Given the description of an element on the screen output the (x, y) to click on. 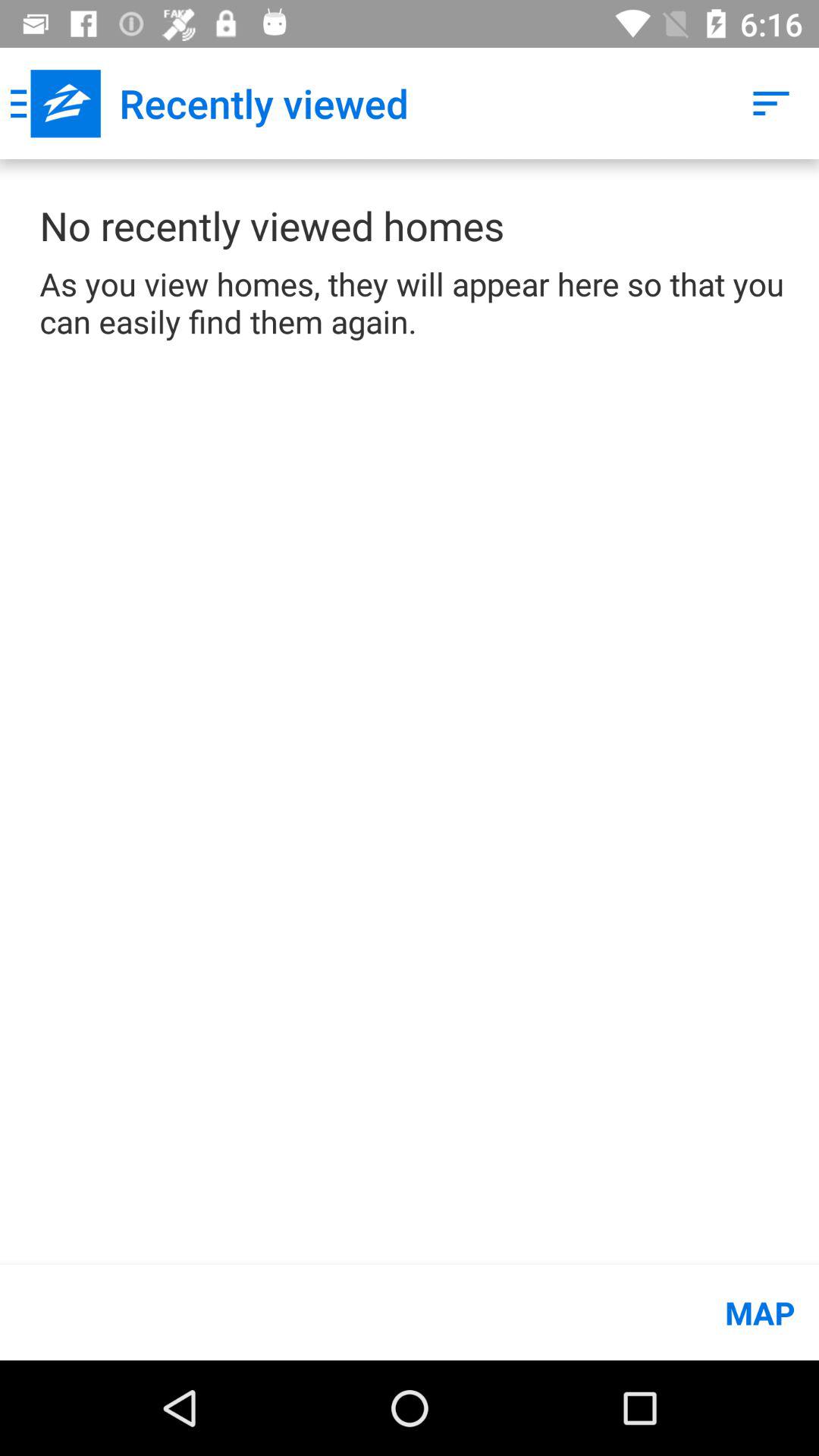
select item below the as you view item (409, 1312)
